Given the description of an element on the screen output the (x, y) to click on. 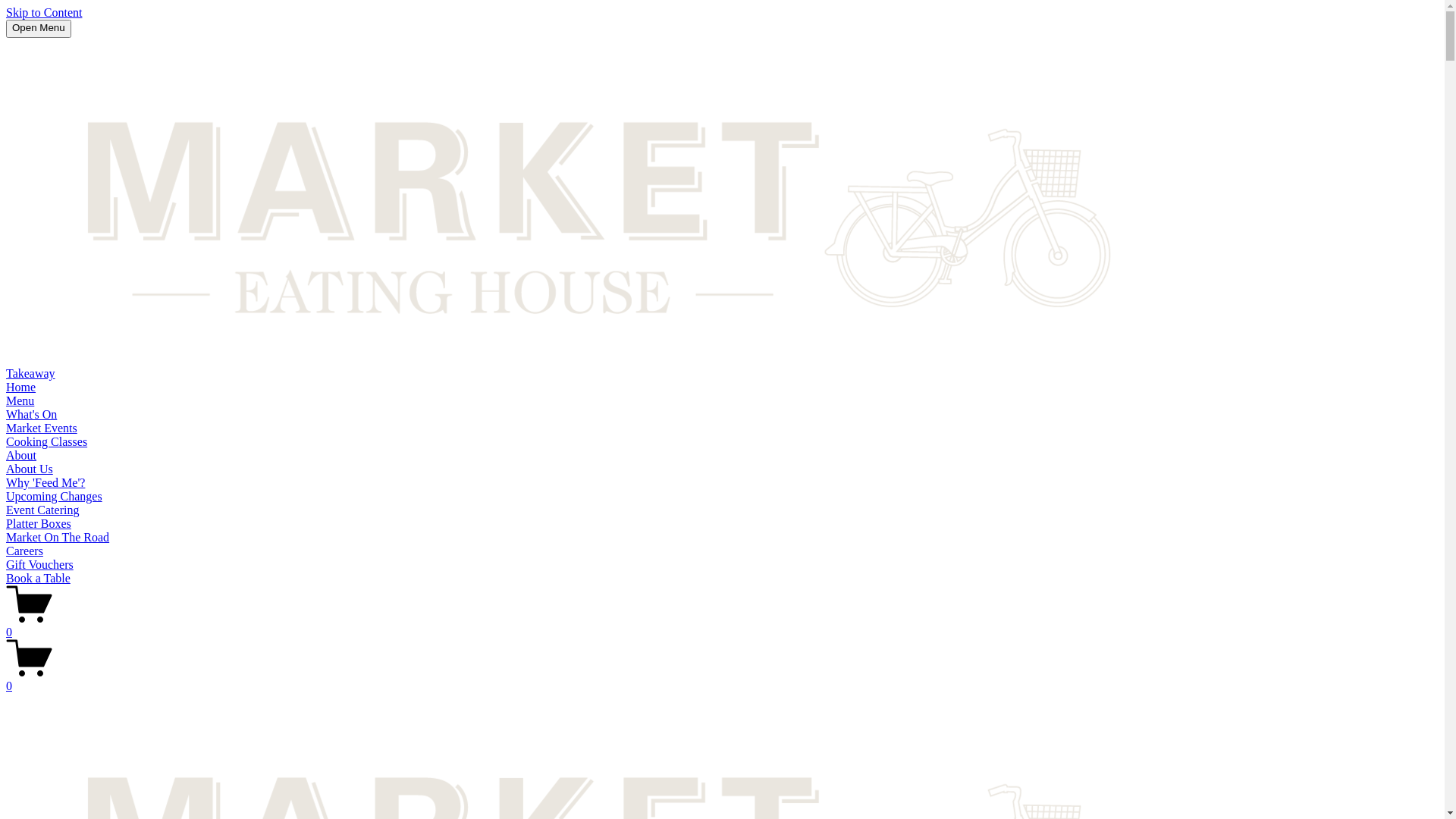
What's On Element type: text (31, 413)
Cooking Classes Element type: text (46, 441)
About Us Element type: text (29, 468)
0 Element type: text (722, 625)
Careers Element type: text (24, 550)
Platter Boxes Element type: text (38, 523)
Market On The Road Element type: text (57, 536)
Market Events Element type: text (41, 427)
0 Element type: text (722, 679)
Menu Element type: text (20, 400)
Why 'Feed Me'? Element type: text (45, 482)
About Element type: text (21, 454)
Event Catering Element type: text (42, 509)
Book a Table Element type: text (38, 577)
Takeaway Element type: text (30, 373)
Upcoming Changes Element type: text (54, 495)
Open Menu Element type: text (38, 28)
Skip to Content Element type: text (43, 12)
Gift Vouchers Element type: text (39, 564)
Home Element type: text (20, 386)
